Given the description of an element on the screen output the (x, y) to click on. 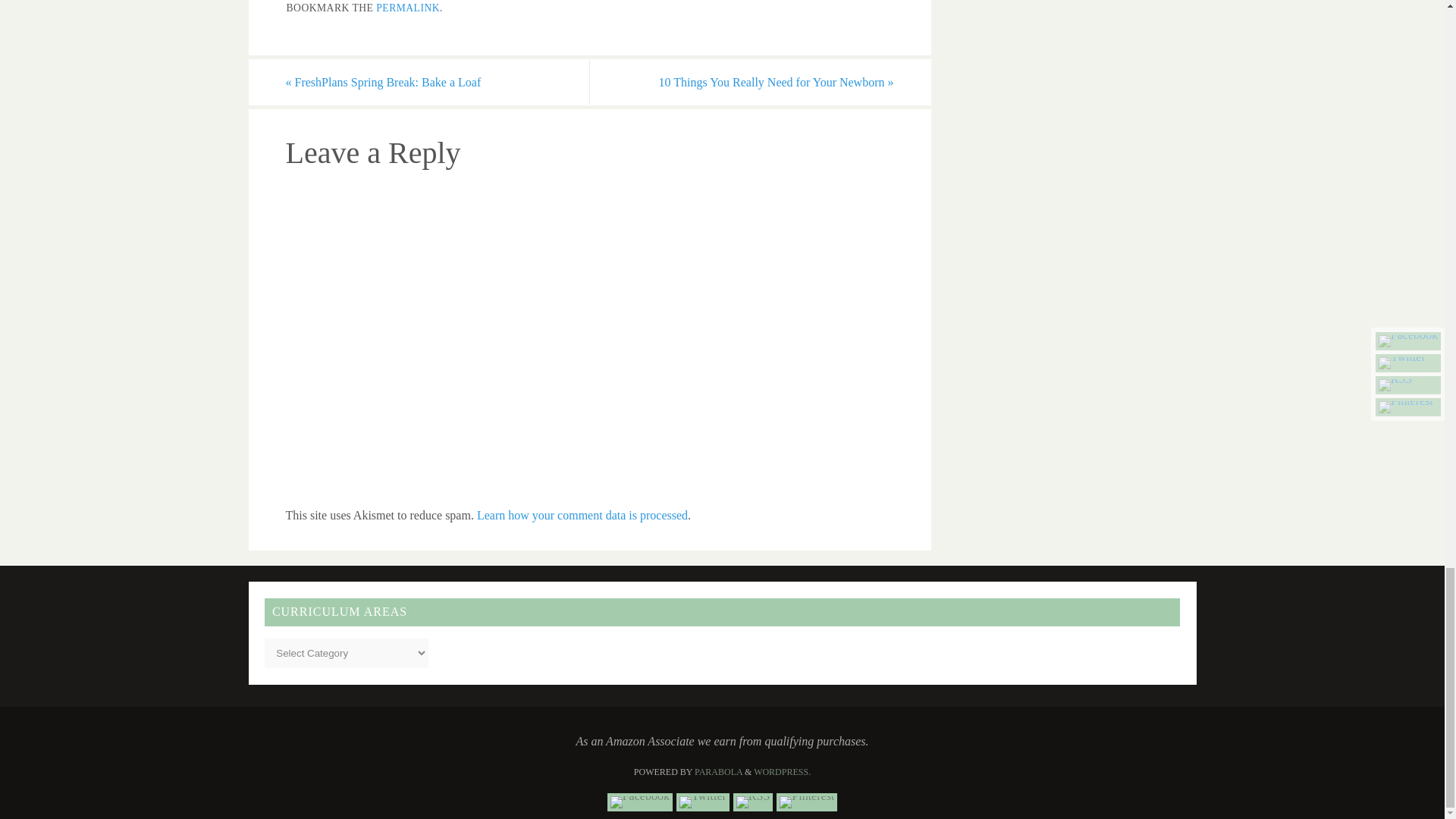
Parabola Theme by Cryout Creations (718, 771)
Permalink to Fresh Easter Baskets (407, 7)
PERMALINK (407, 7)
